Given the description of an element on the screen output the (x, y) to click on. 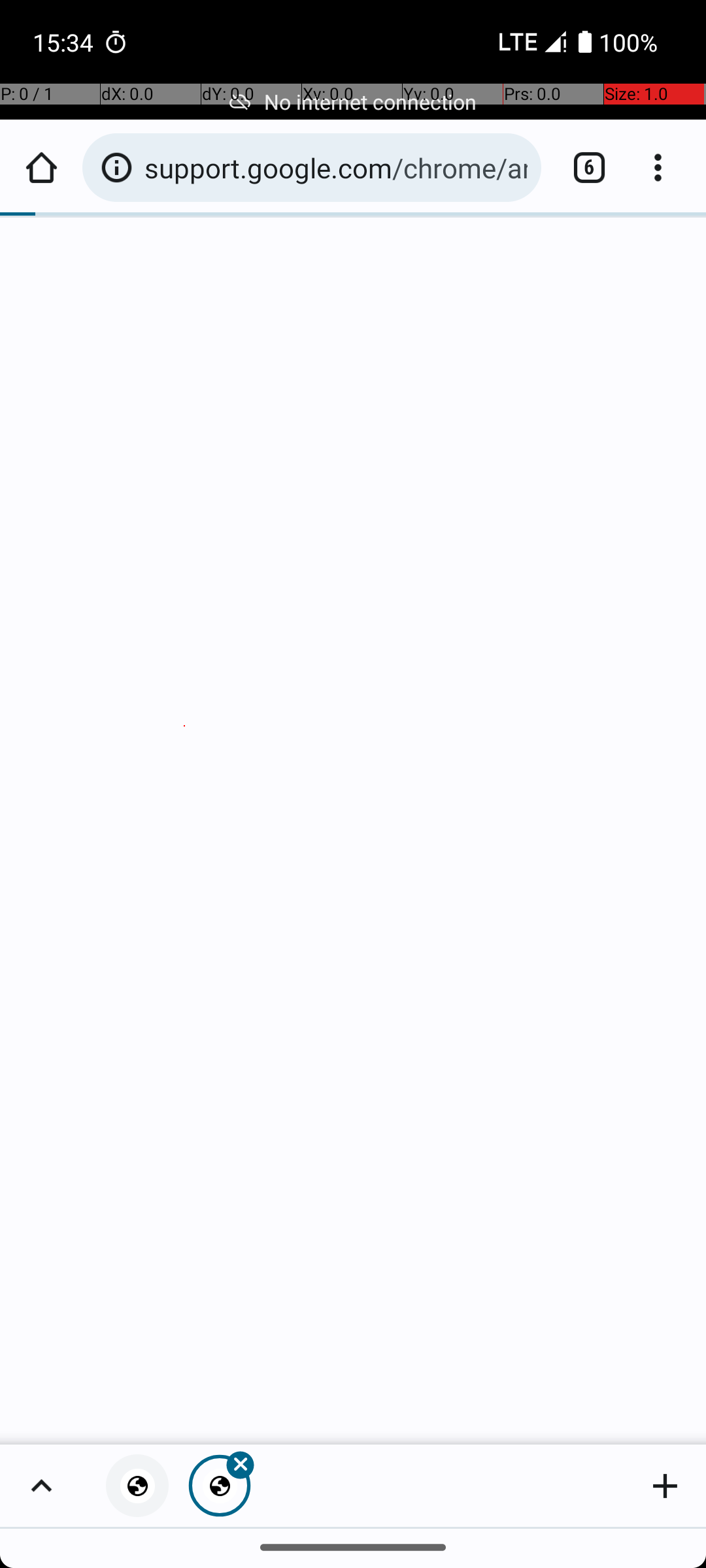
Show group's tabs in fullscreen grid Element type: android.widget.ImageView (41, 1485)
Add new tab to group Element type: android.widget.ImageView (664, 1485)
support.google.com/chrome/answer/6098869#-201 Element type: android.widget.EditText (335, 167)
Privacy error, tab Element type: android.widget.ImageButton (137, 1485)
Close  tab Element type: android.widget.ImageButton (219, 1485)
